Given the description of an element on the screen output the (x, y) to click on. 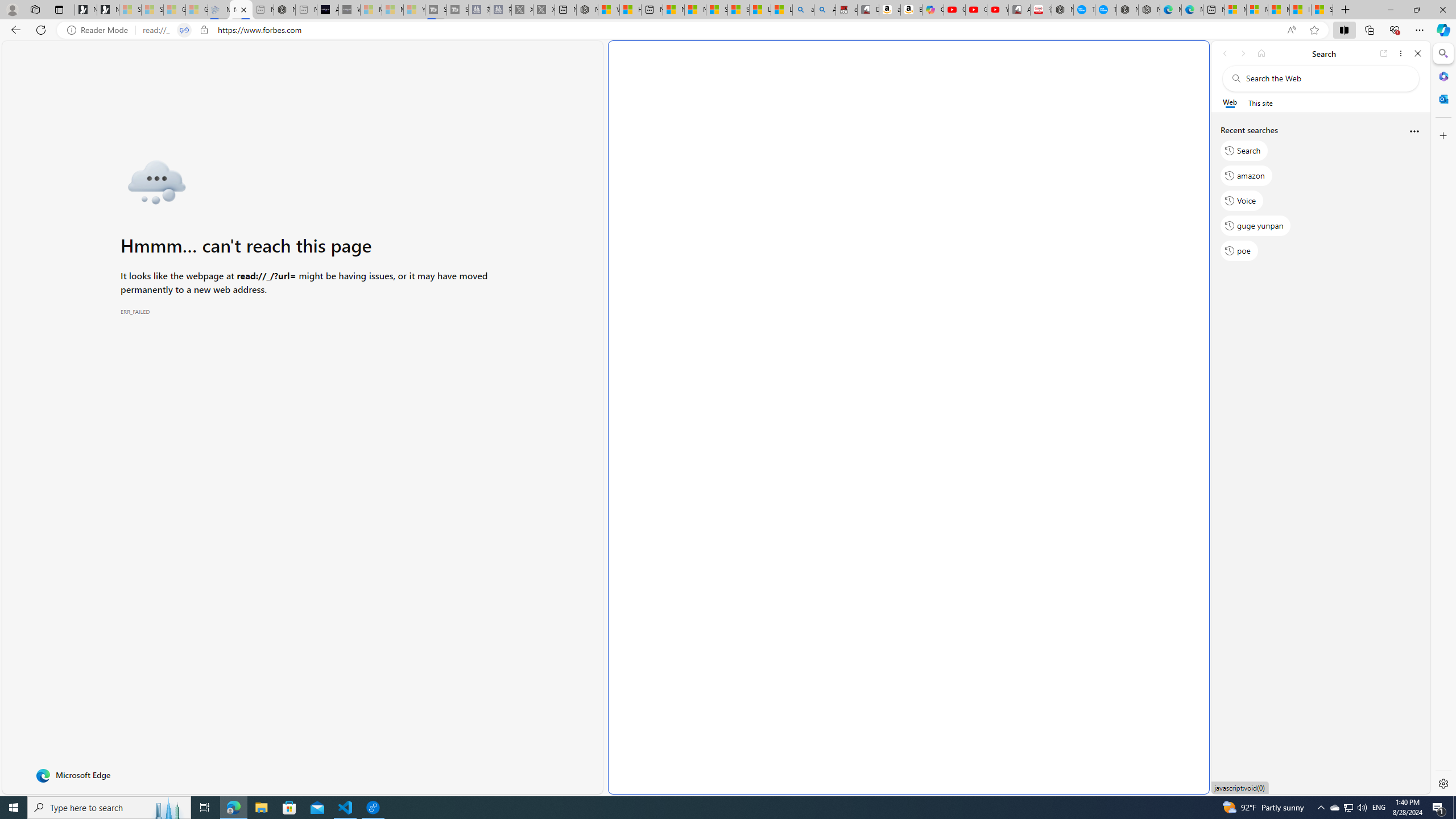
Read aloud this page (Ctrl+Shift+U) (1291, 29)
Streaming Coverage | T3 - Sleeping (435, 9)
Search (1442, 53)
X - Sleeping (543, 9)
Settings (1442, 783)
Voice (1241, 200)
Amazon Echo Dot PNG - Search Images (824, 9)
amazon (1246, 175)
This site scope (1259, 102)
Newsletter Sign Up (107, 9)
Web scope (1230, 102)
amazon.in/dp/B0CX59H5W7/?tag=gsmcom05-21 (889, 9)
